Given the description of an element on the screen output the (x, y) to click on. 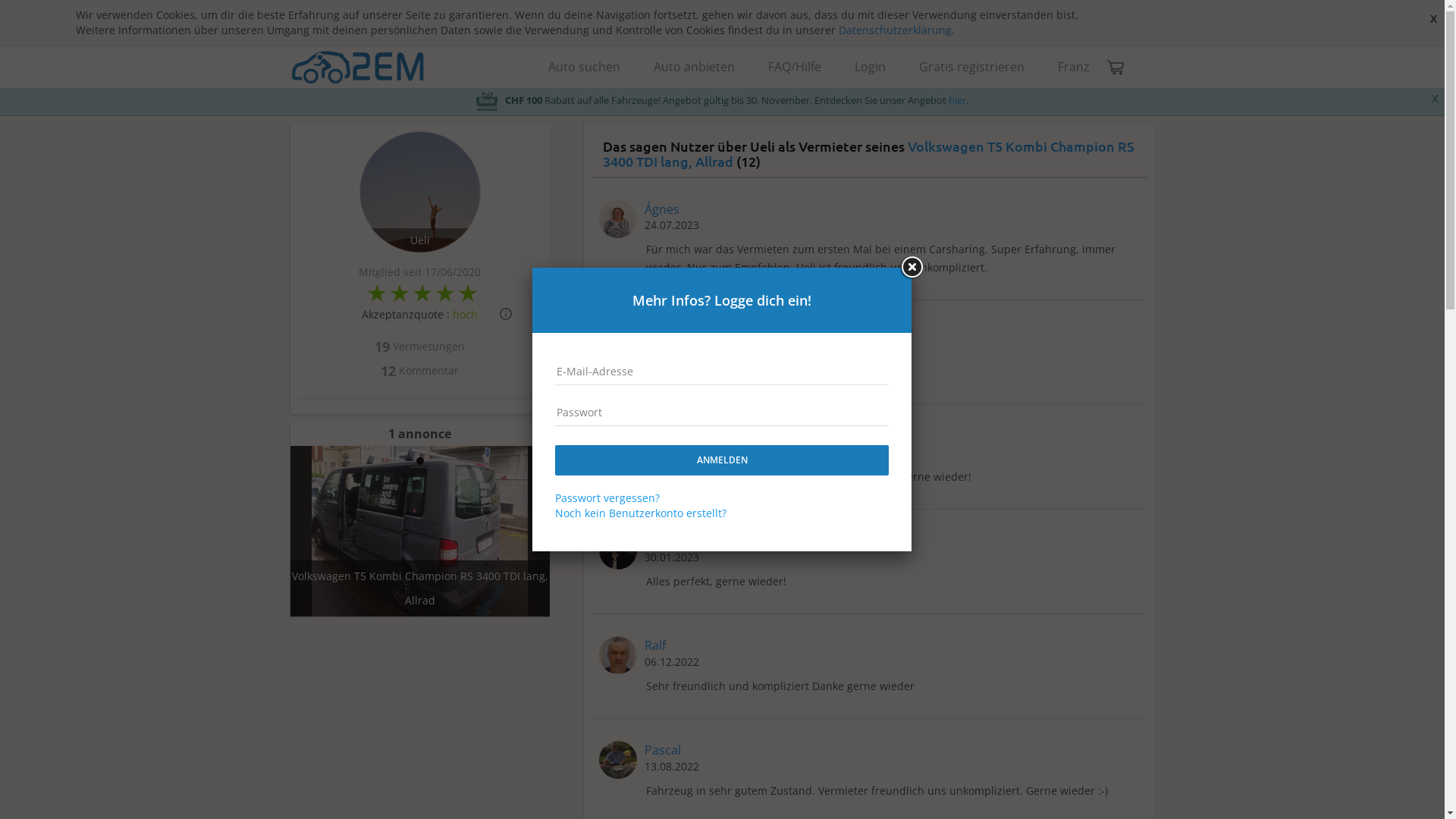
Pascal Element type: text (662, 749)
Petrit Element type: text (660, 331)
sehen Profil Scholcz Element type: hover (618, 217)
Passwort vergessen? Element type: text (607, 497)
Login Element type: text (869, 66)
Auto anbieten Element type: text (694, 66)
Volkswagen T5 Kombi Champion RS 3400 TDI lang, Allrad Element type: text (868, 153)
sehen Profil Gruber Element type: hover (618, 653)
Auto suchen Element type: text (583, 66)
hier Element type: text (957, 99)
sehen Profil Bamert Element type: hover (618, 758)
sehen Profil Deliu Element type: hover (618, 339)
Volkswagen T5 Kombi Champion RS 3400 TDI lang, Allrad Element type: text (419, 530)
ANMELDEN Element type: text (721, 460)
sehen Profil Aellig Element type: hover (618, 549)
Noch kein Benutzerkonto erstellt? Element type: text (640, 512)
Gratis registrieren Element type: text (971, 66)
Franz Element type: text (1072, 66)
Ralf Element type: text (654, 645)
Tizian Element type: text (660, 540)
Stefanie Element type: text (667, 435)
Close Element type: hover (911, 267)
FAQ/Hilfe Element type: text (793, 66)
1 Element type: text (419, 460)
